Given the description of an element on the screen output the (x, y) to click on. 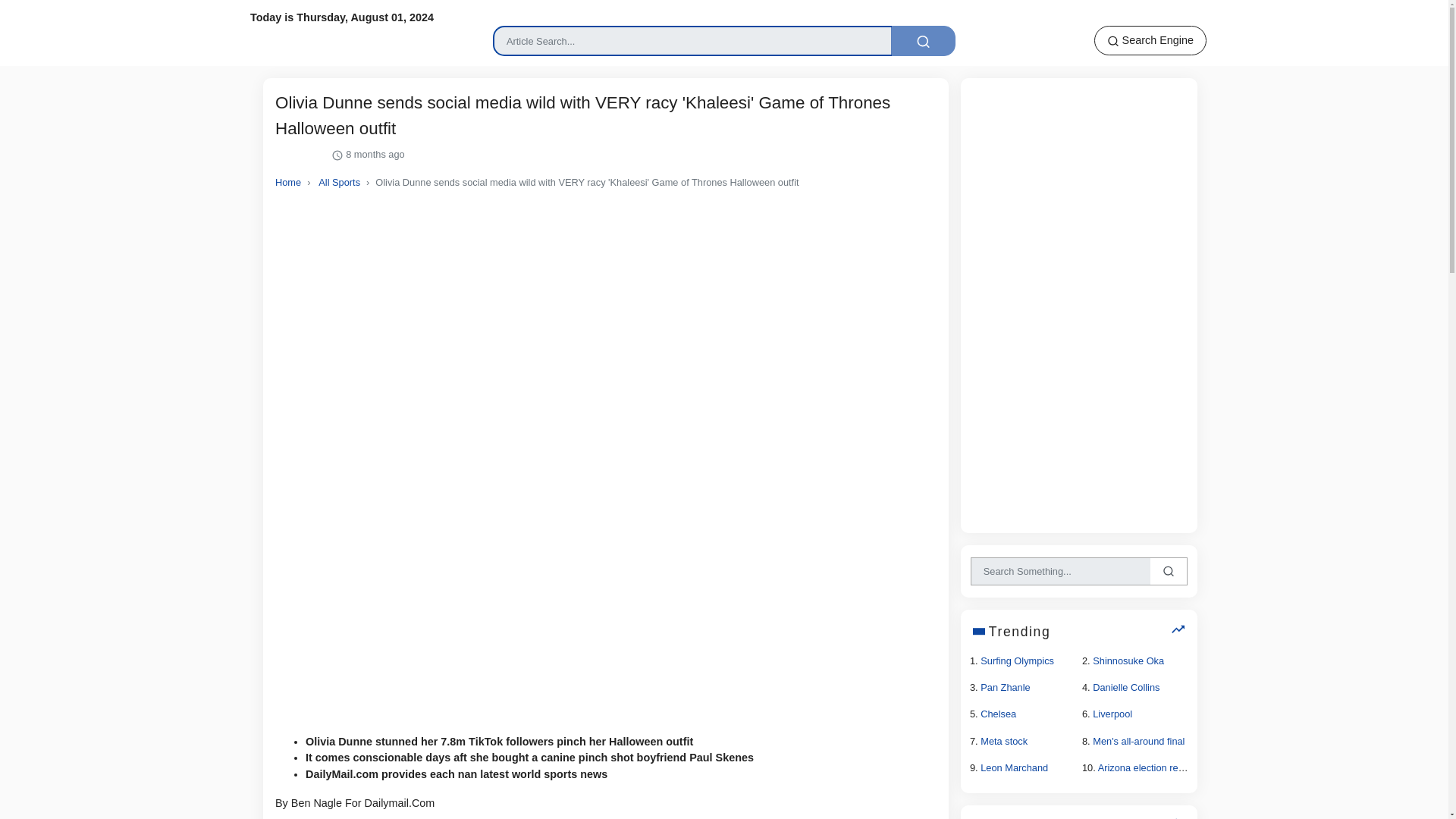
Shinnosuke Oka (1128, 660)
PapaRead.com (298, 35)
Search Engine (1150, 40)
Liverpool (1112, 713)
Home (288, 182)
All Sports (338, 182)
Chelsea (997, 713)
Surfing Olympics (1016, 660)
Danielle Collins (1125, 686)
Search Engine (1150, 40)
Pan Zhanle (1004, 686)
